Given the description of an element on the screen output the (x, y) to click on. 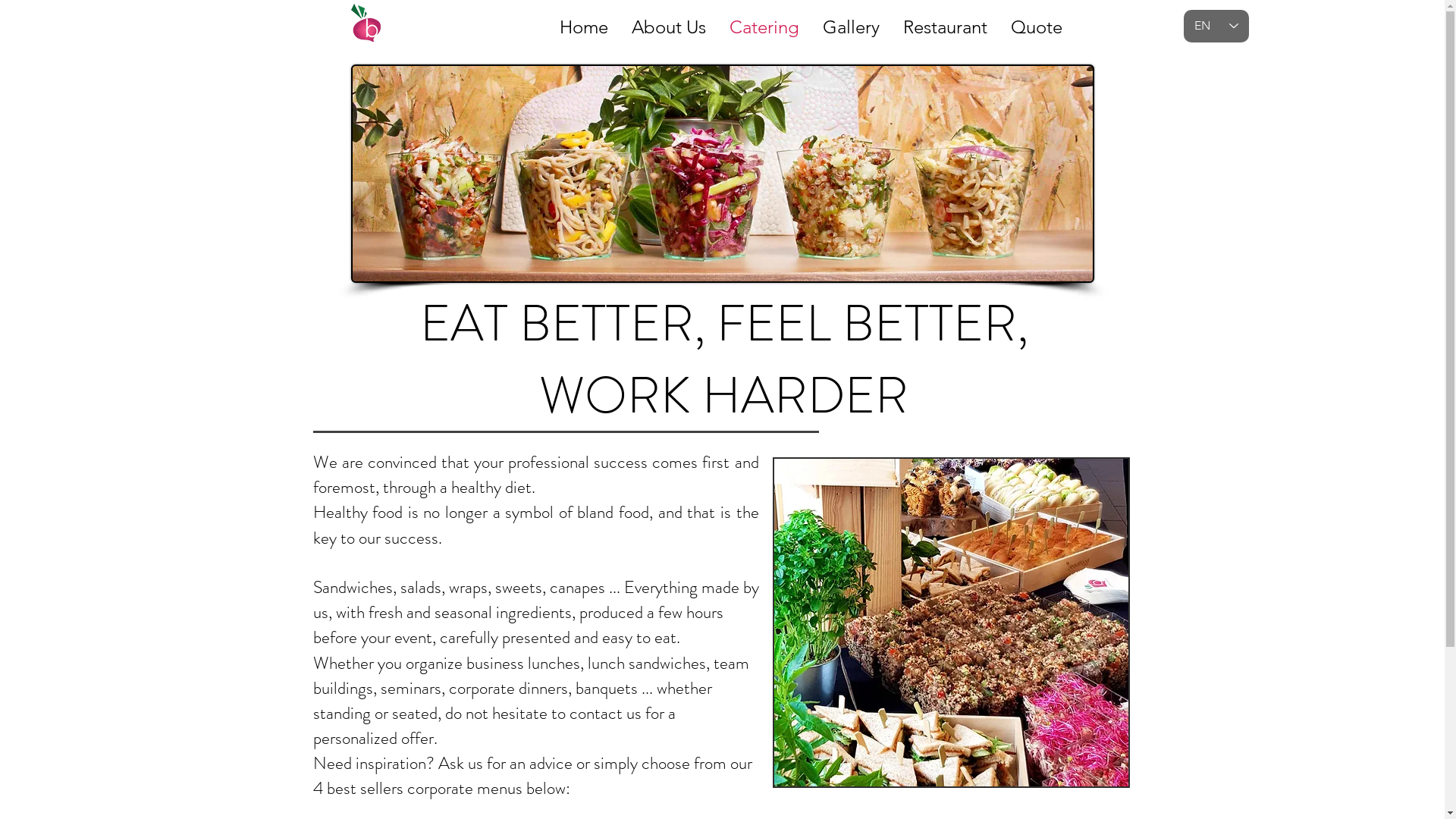
Gallery Element type: text (851, 22)
Restaurant Element type: text (944, 22)
About Us Element type: text (668, 22)
Home Element type: text (582, 22)
Quote Element type: text (1036, 22)
Catering Element type: text (763, 22)
